Given the description of an element on the screen output the (x, y) to click on. 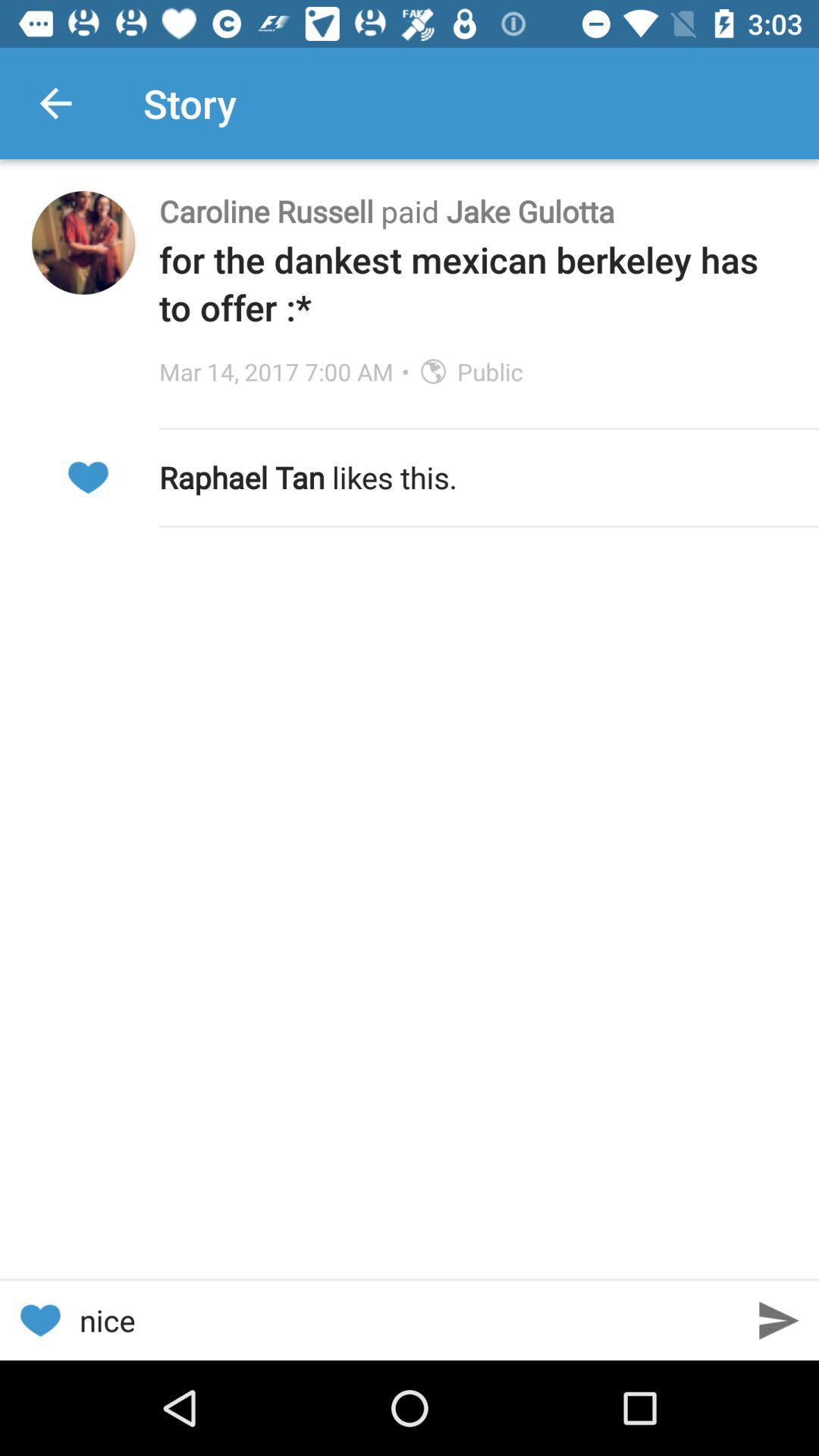
click the send arrow (779, 1320)
